Given the description of an element on the screen output the (x, y) to click on. 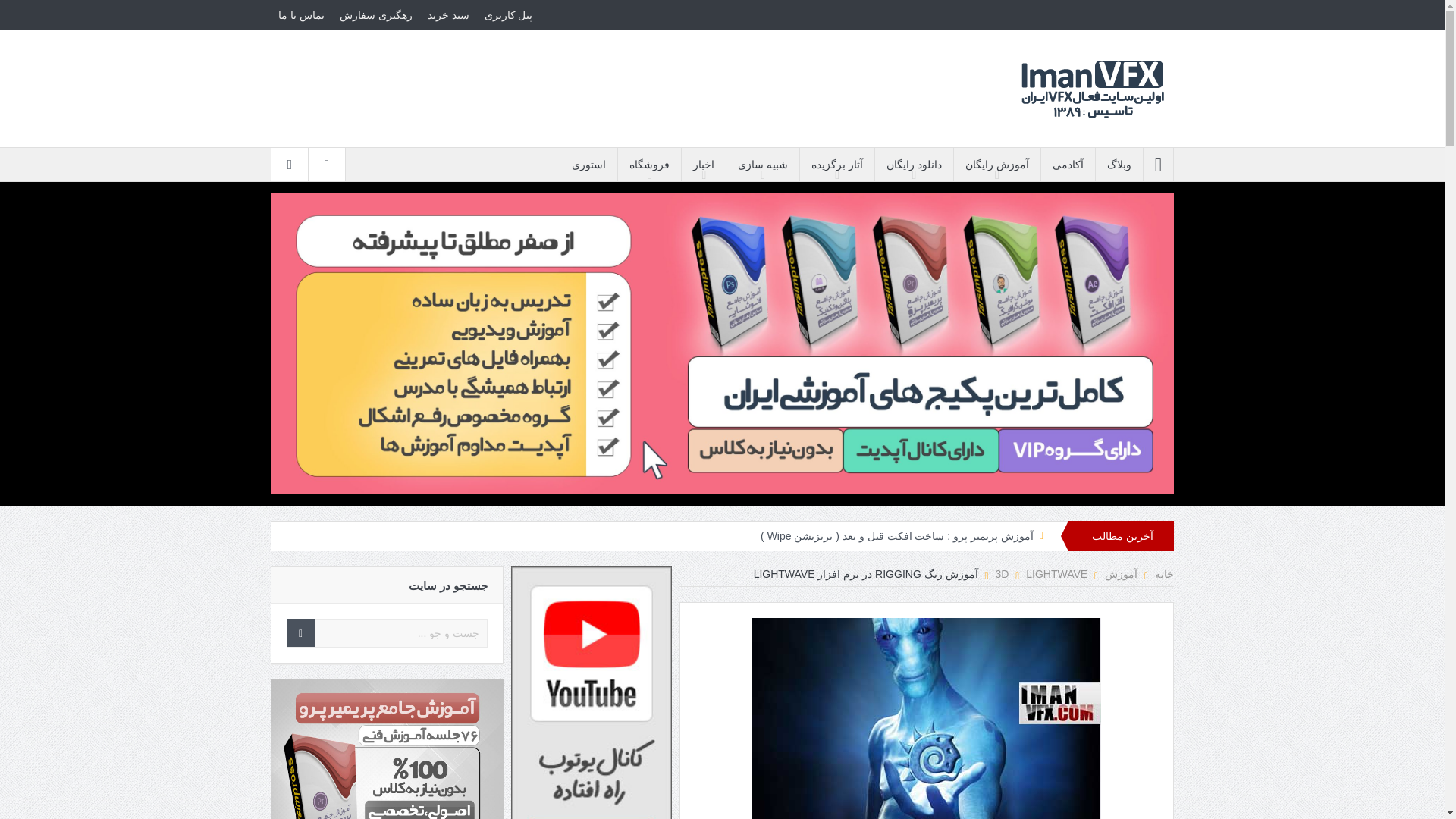
3D (1001, 573)
